Given the description of an element on the screen output the (x, y) to click on. 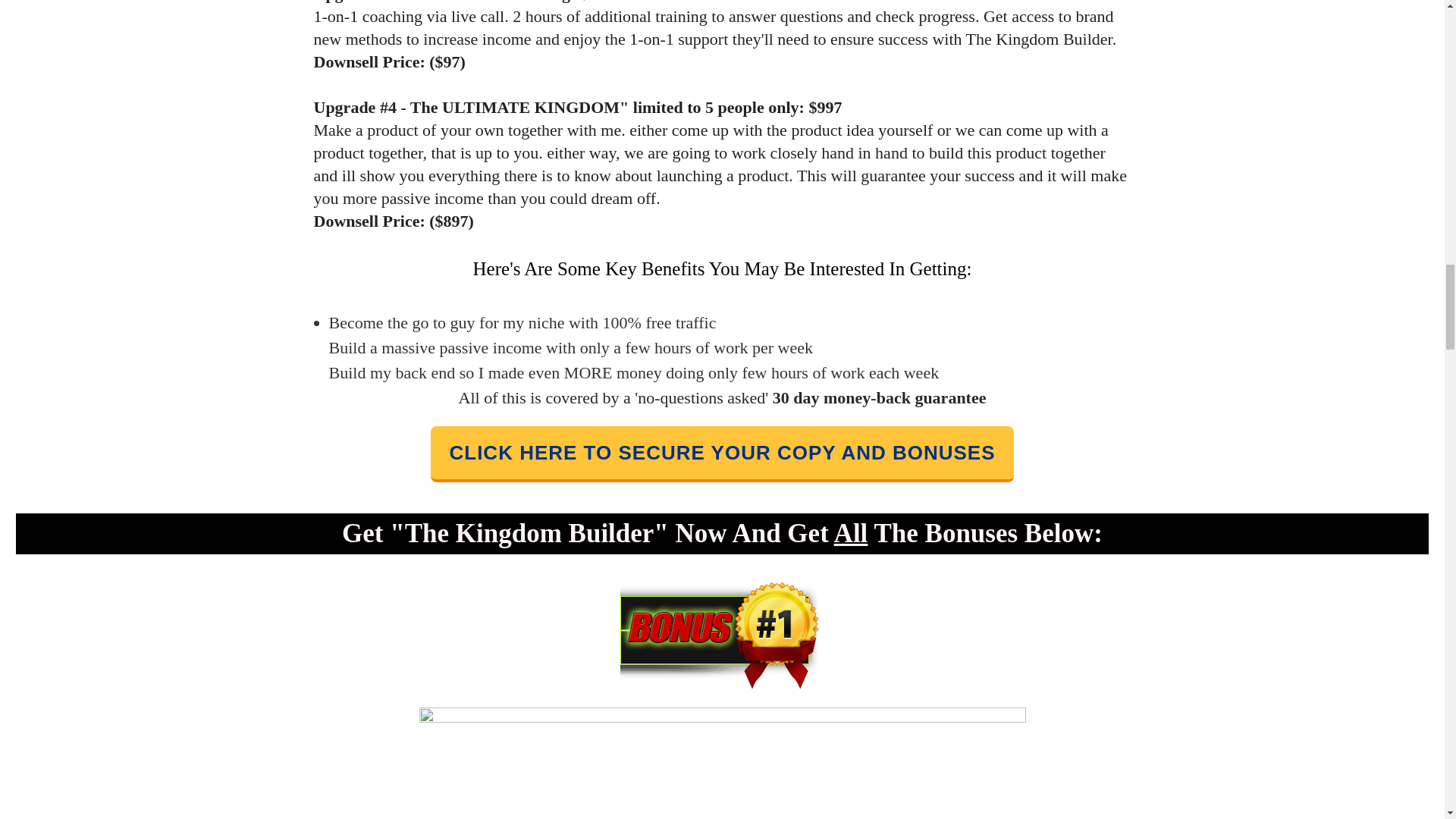
b1 (722, 636)
CLICK HERE TO SECURE YOUR COPY AND BONUSES (721, 453)
